Given the description of an element on the screen output the (x, y) to click on. 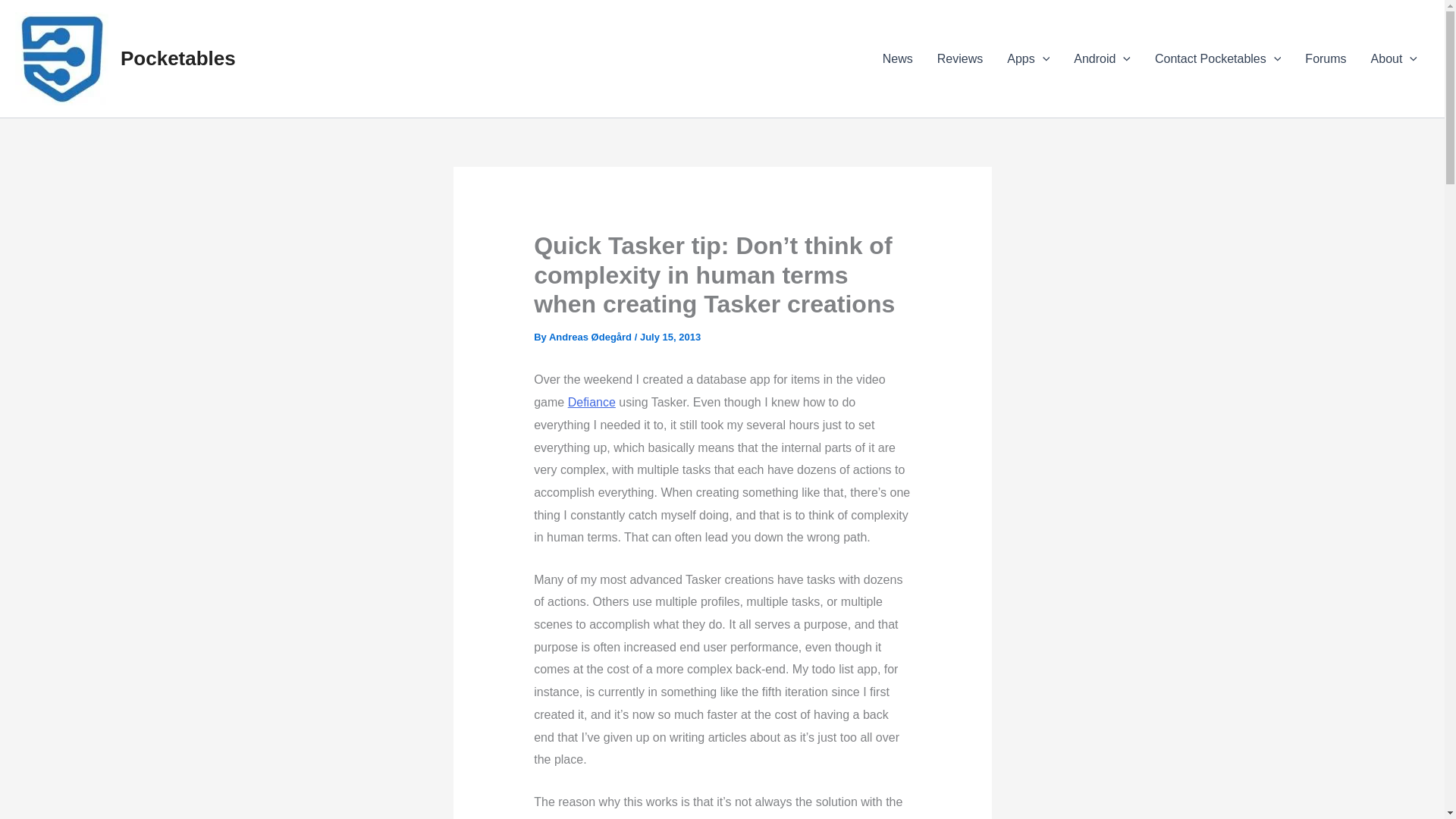
Contact Pocketables (1217, 58)
Reviews (959, 58)
About (1393, 58)
Android (1101, 58)
Forums (1325, 58)
Apps (1027, 58)
News (897, 58)
Pocketables (177, 57)
